Given the description of an element on the screen output the (x, y) to click on. 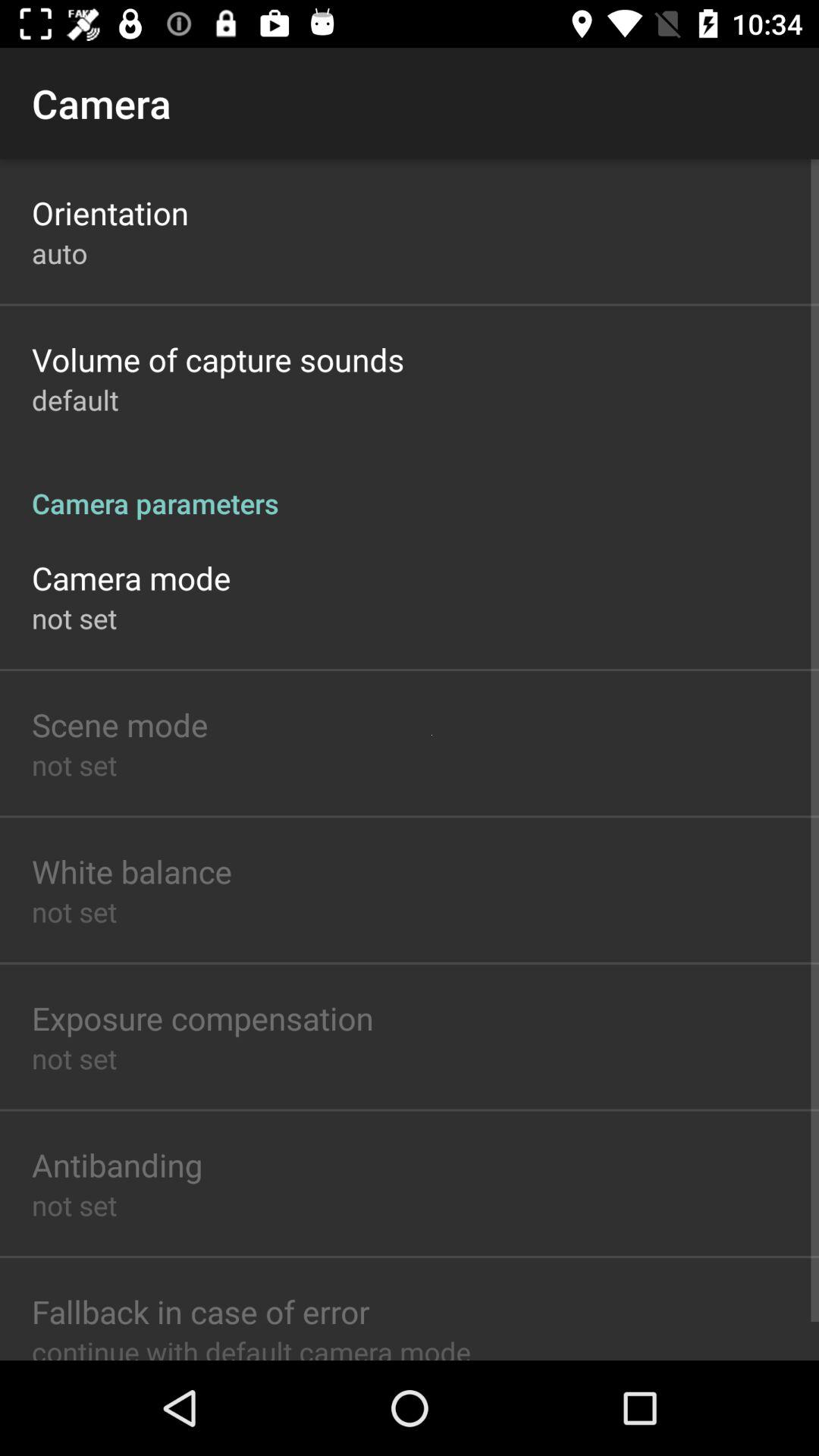
open white balance item (131, 870)
